Given the description of an element on the screen output the (x, y) to click on. 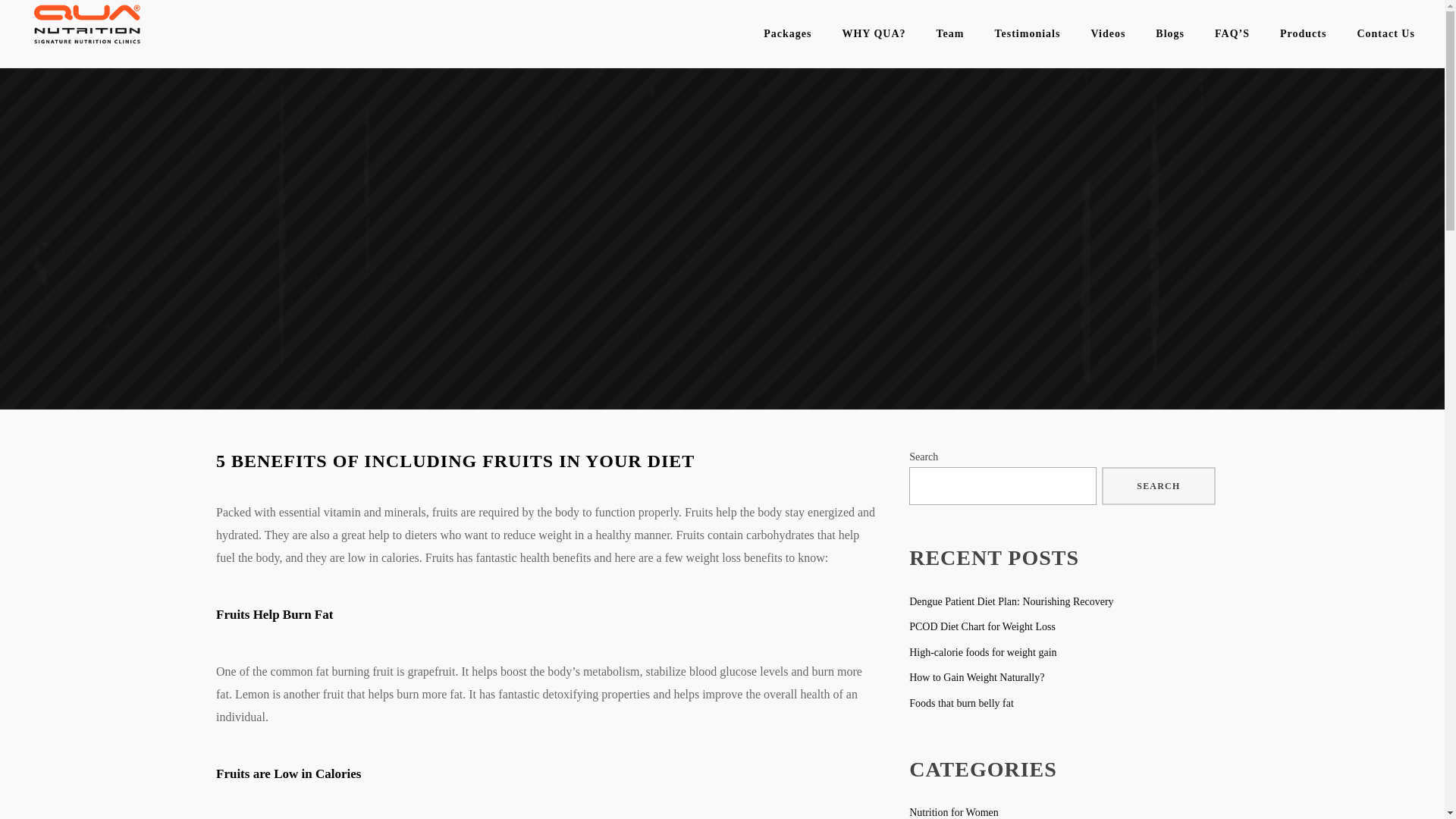
Packages (787, 33)
Contact Us (1384, 33)
WHY QUA? (873, 33)
Products (1302, 33)
Testimonials (1026, 33)
Videos (1107, 33)
